Given the description of an element on the screen output the (x, y) to click on. 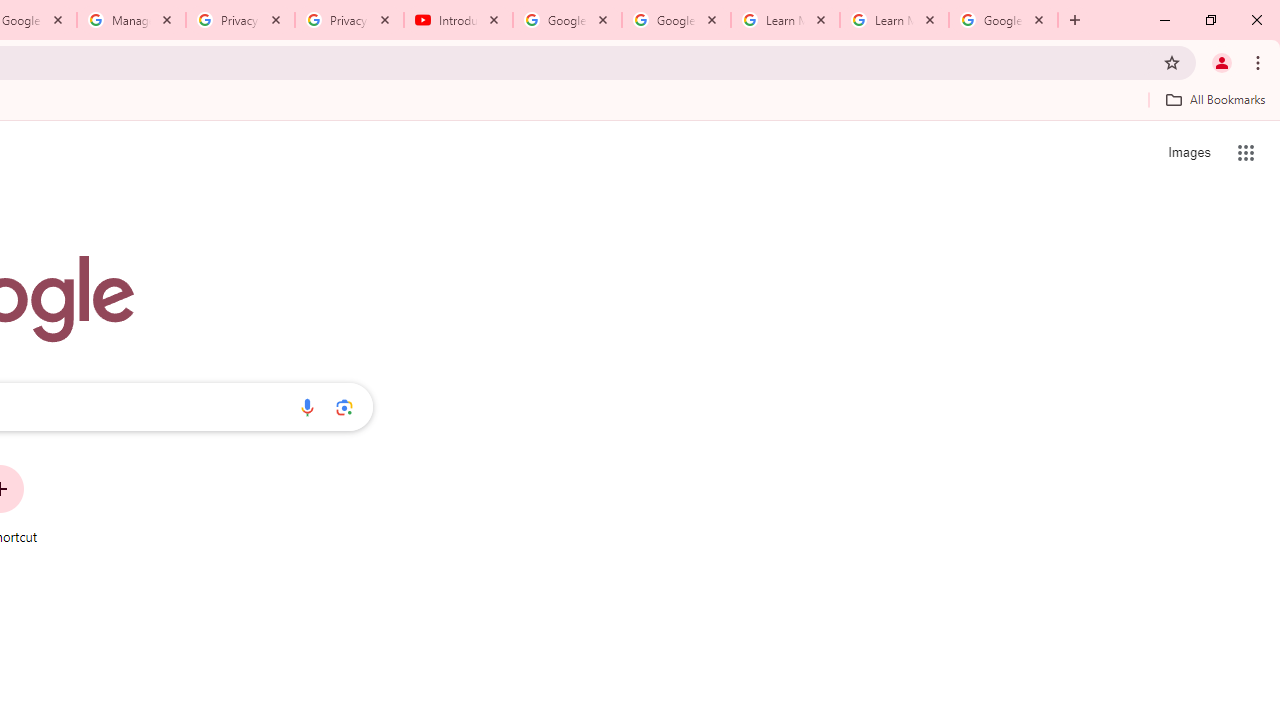
Search by image (344, 407)
